Given the description of an element on the screen output the (x, y) to click on. 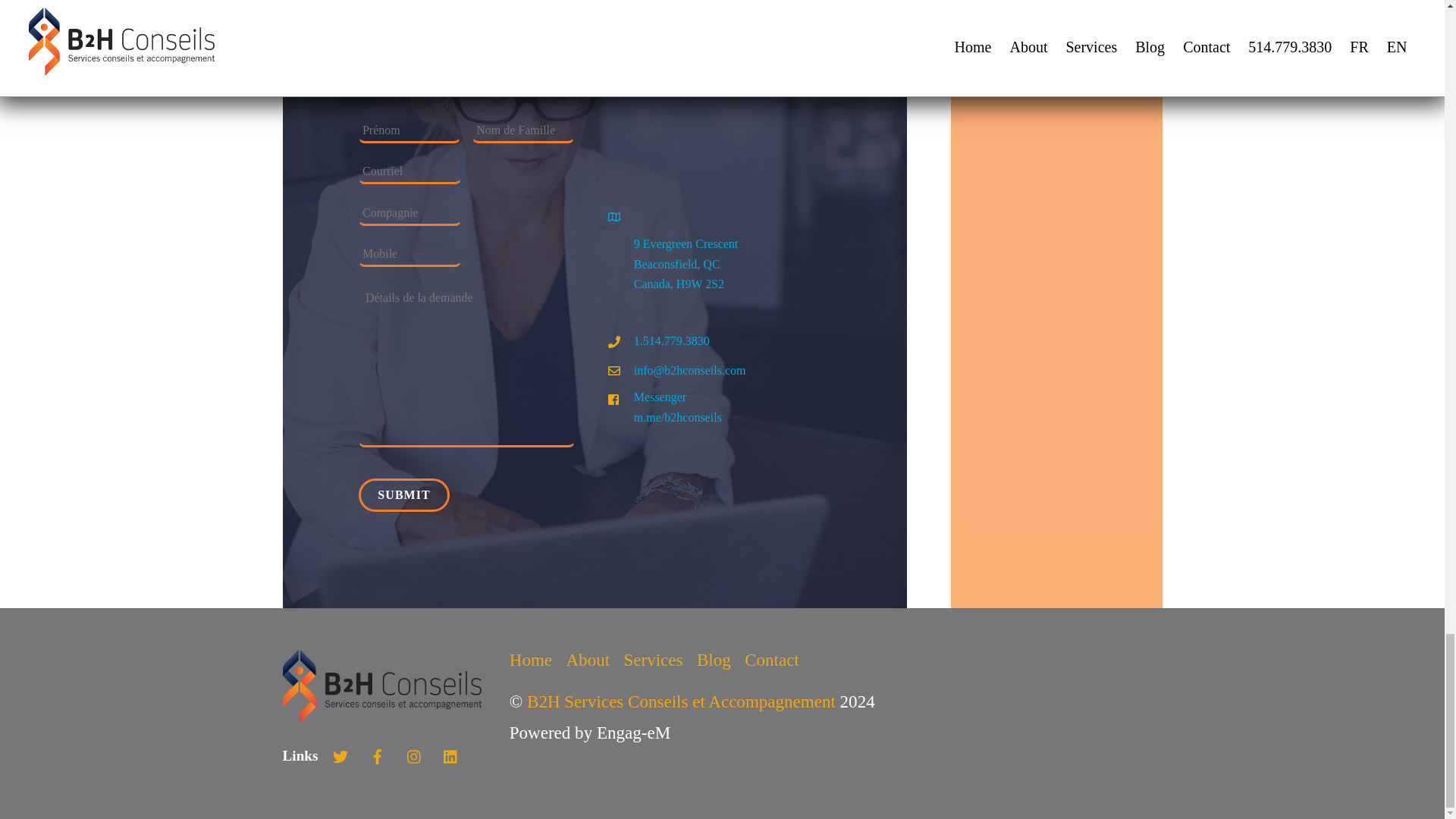
Submit (403, 495)
Submit (403, 495)
B2H Services Conseils et Accompagnement (381, 716)
1.514.779.3830 (659, 340)
